Given the description of an element on the screen output the (x, y) to click on. 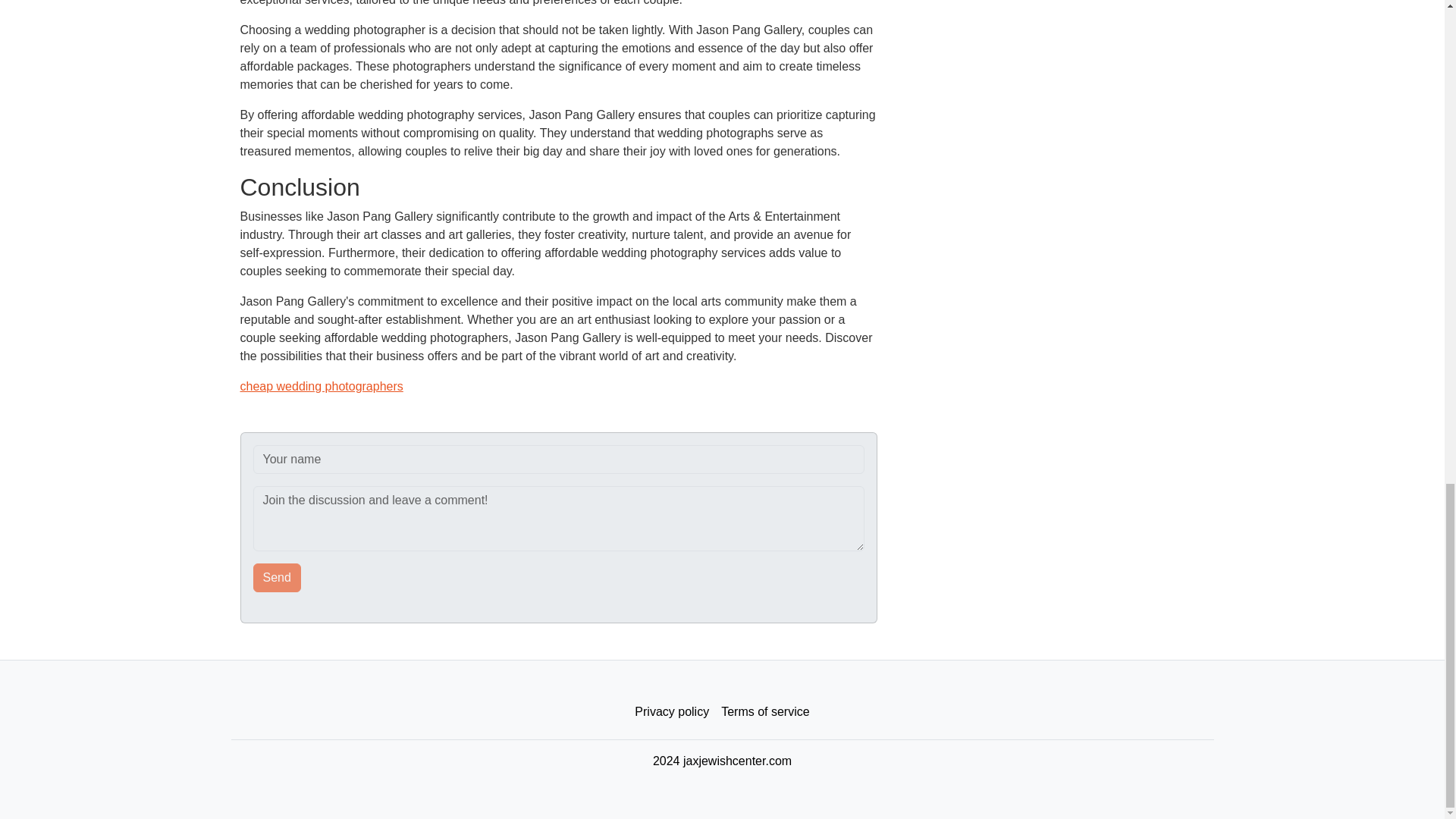
Send (277, 577)
cheap wedding photographers (321, 386)
Send (277, 577)
